Given the description of an element on the screen output the (x, y) to click on. 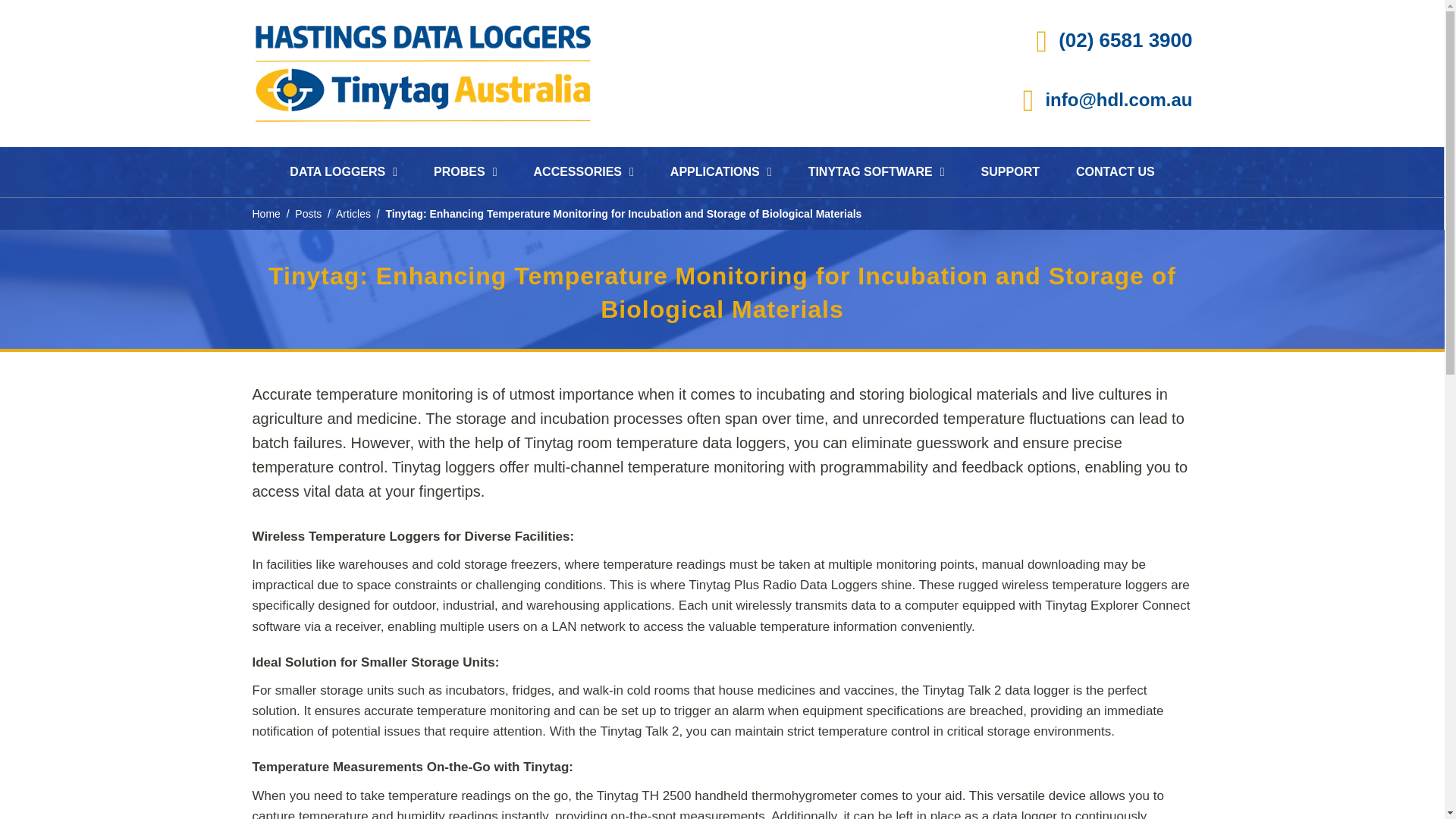
PROBES (464, 171)
DATA LOGGERS (343, 171)
hastings-data-loggers-logo-transparent-450x134 (421, 73)
